Given the description of an element on the screen output the (x, y) to click on. 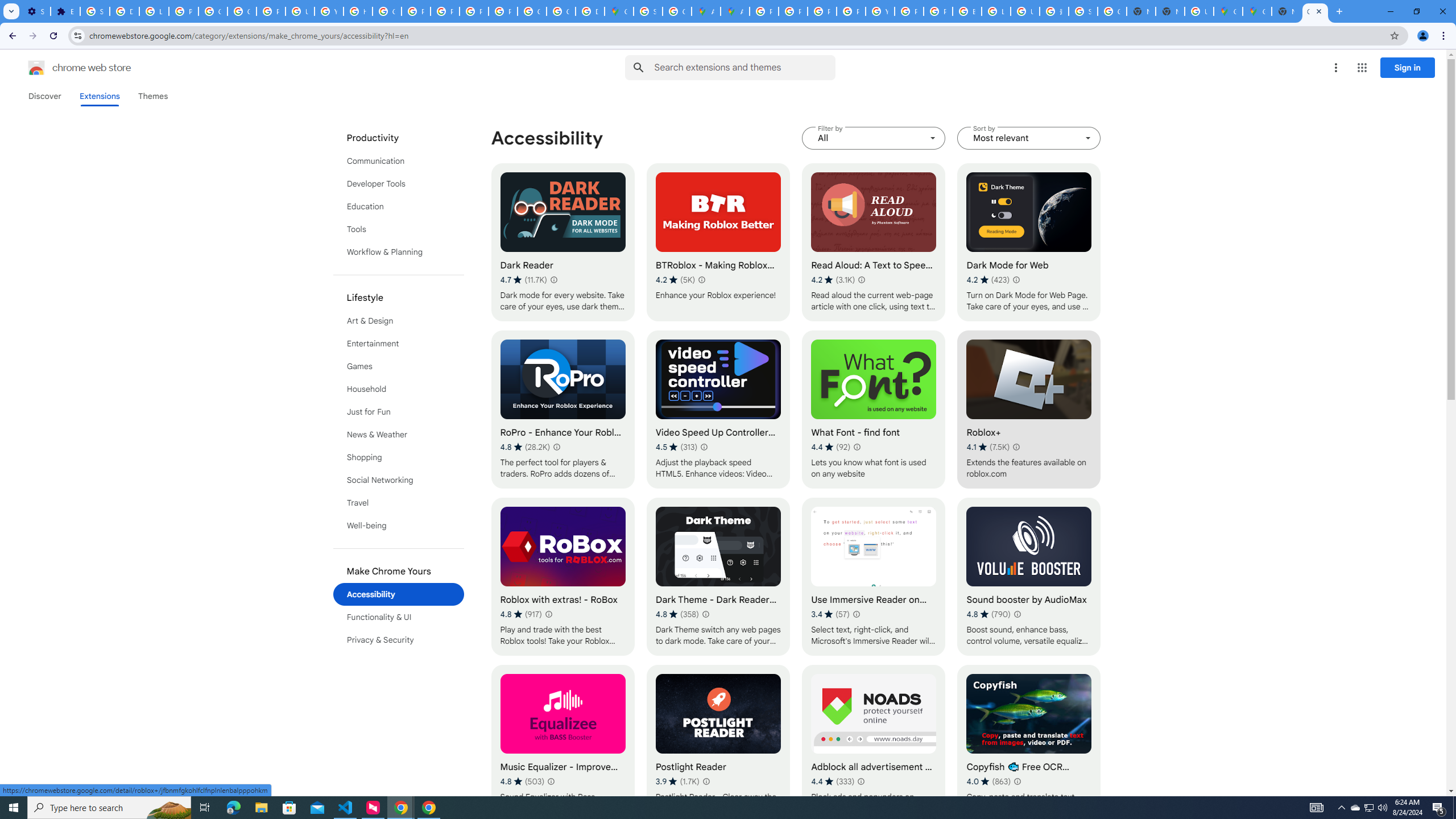
Dark Mode for Web (1028, 241)
Sign in - Google Accounts (1082, 11)
Extensions (99, 95)
Average rating 4.5 out of 5 stars. 313 ratings. (676, 446)
Average rating 4.8 out of 5 stars. 790 ratings. (988, 613)
Chrome Web Store logo chrome web store (67, 67)
Privacy & Security (398, 639)
Privacy Help Center - Policies Help (415, 11)
Discover (43, 95)
